Given the description of an element on the screen output the (x, y) to click on. 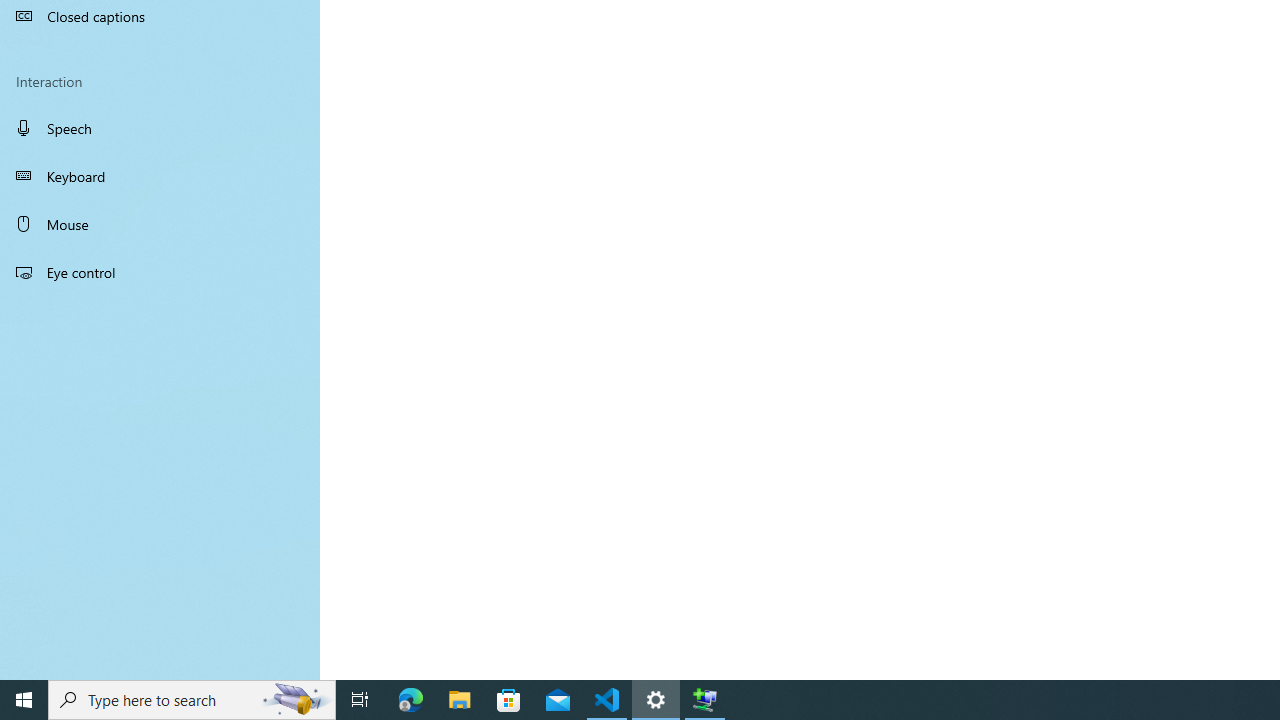
Speech (160, 127)
Extensible Wizards Host Process - 1 running window (704, 699)
Keyboard (160, 175)
Mouse (160, 223)
Eye control (160, 271)
